Given the description of an element on the screen output the (x, y) to click on. 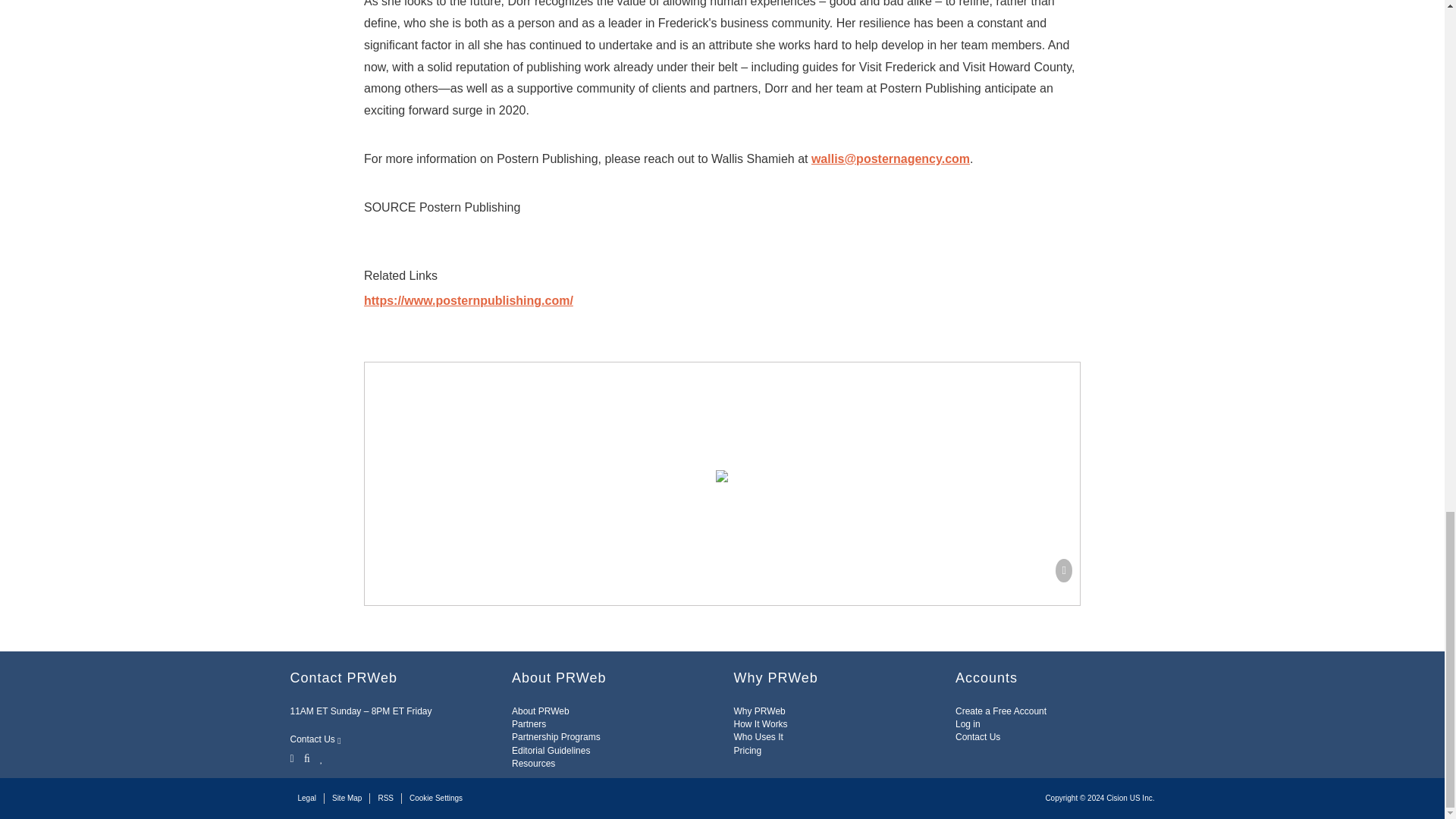
About PRWeb (540, 710)
Resources (533, 763)
Why PRWeb (759, 710)
How It Works (760, 724)
Facebook (306, 757)
Editorial Guidelines (550, 750)
Partners (529, 724)
Partnership Programs (555, 737)
